Given the description of an element on the screen output the (x, y) to click on. 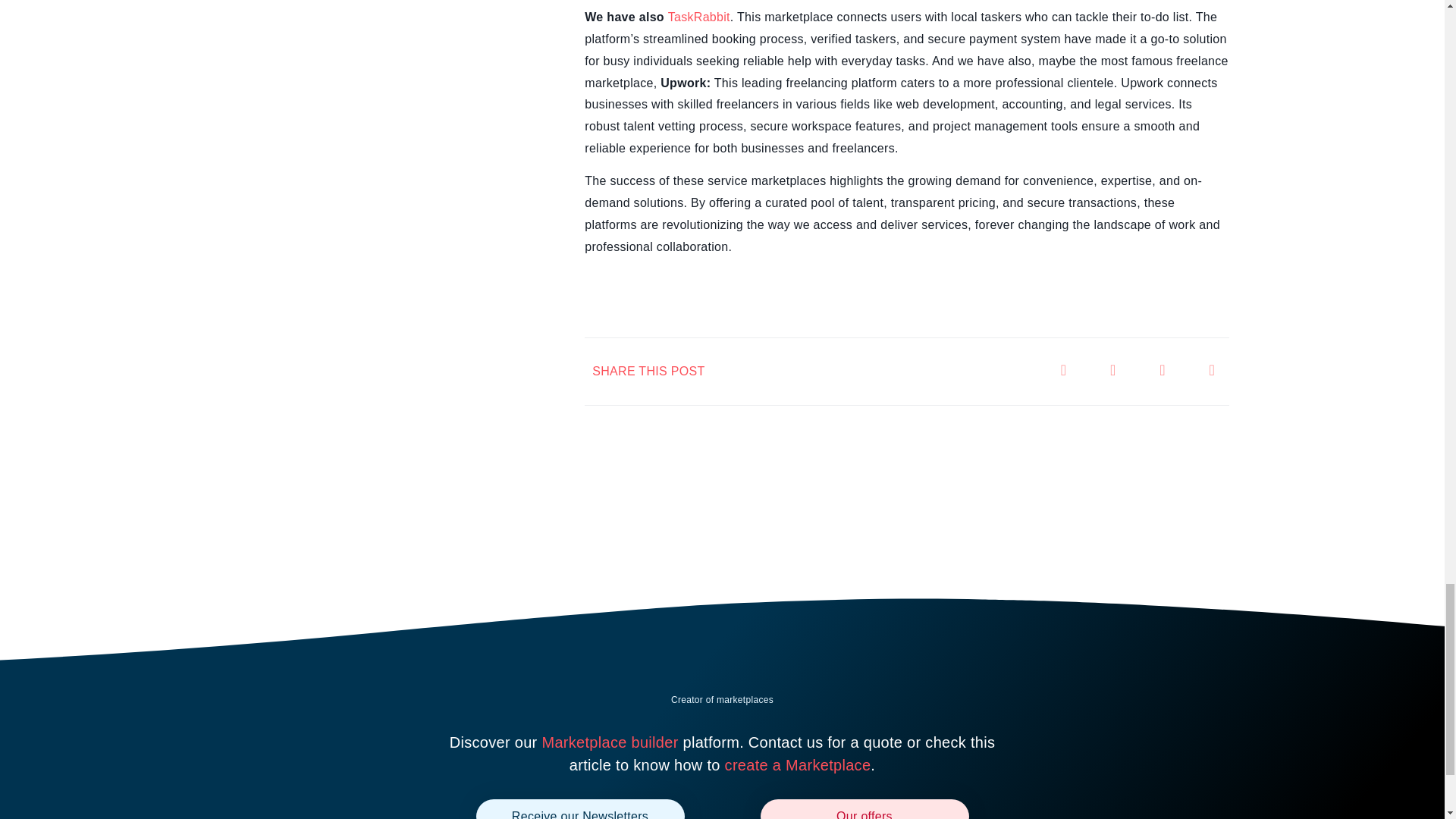
Marketplace builder (609, 742)
TaskRabbit (699, 16)
Receive our Newsletters (580, 809)
create a Marketplace (797, 764)
Our offers (864, 809)
